Given the description of an element on the screen output the (x, y) to click on. 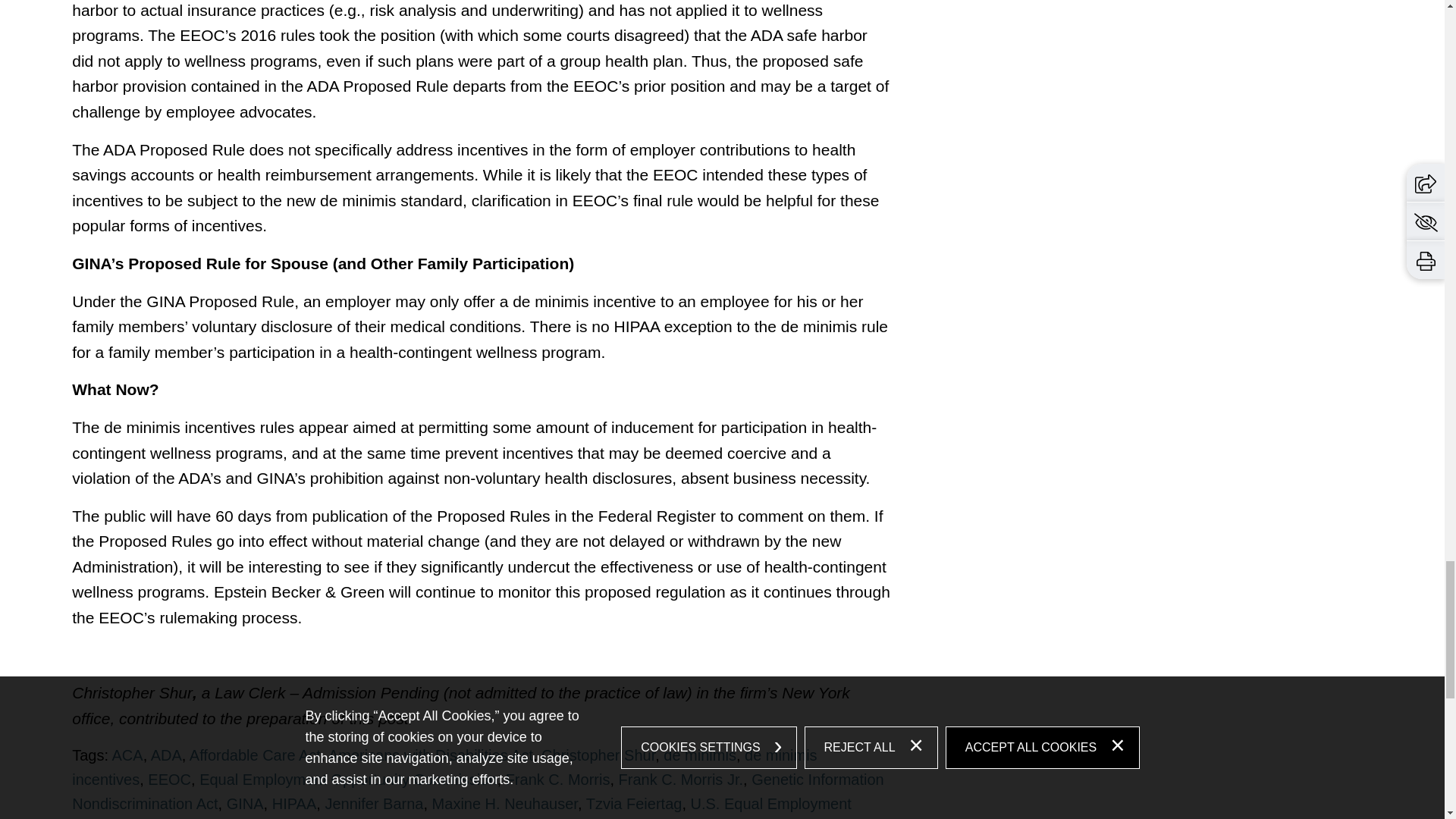
Americans with Disabilities Act (430, 754)
Genetic Information Nondiscrimination Act (477, 791)
Frank C. Morris Jr. (680, 779)
Frank C. Morris (557, 779)
Equal Employment Opportunity Commission (347, 779)
ADA (166, 754)
Christopher Shur (598, 754)
Affordable Care Act (254, 754)
ACA (127, 754)
de minimis incentives (443, 766)
EEOC (169, 779)
de minimis (699, 754)
